Given the description of an element on the screen output the (x, y) to click on. 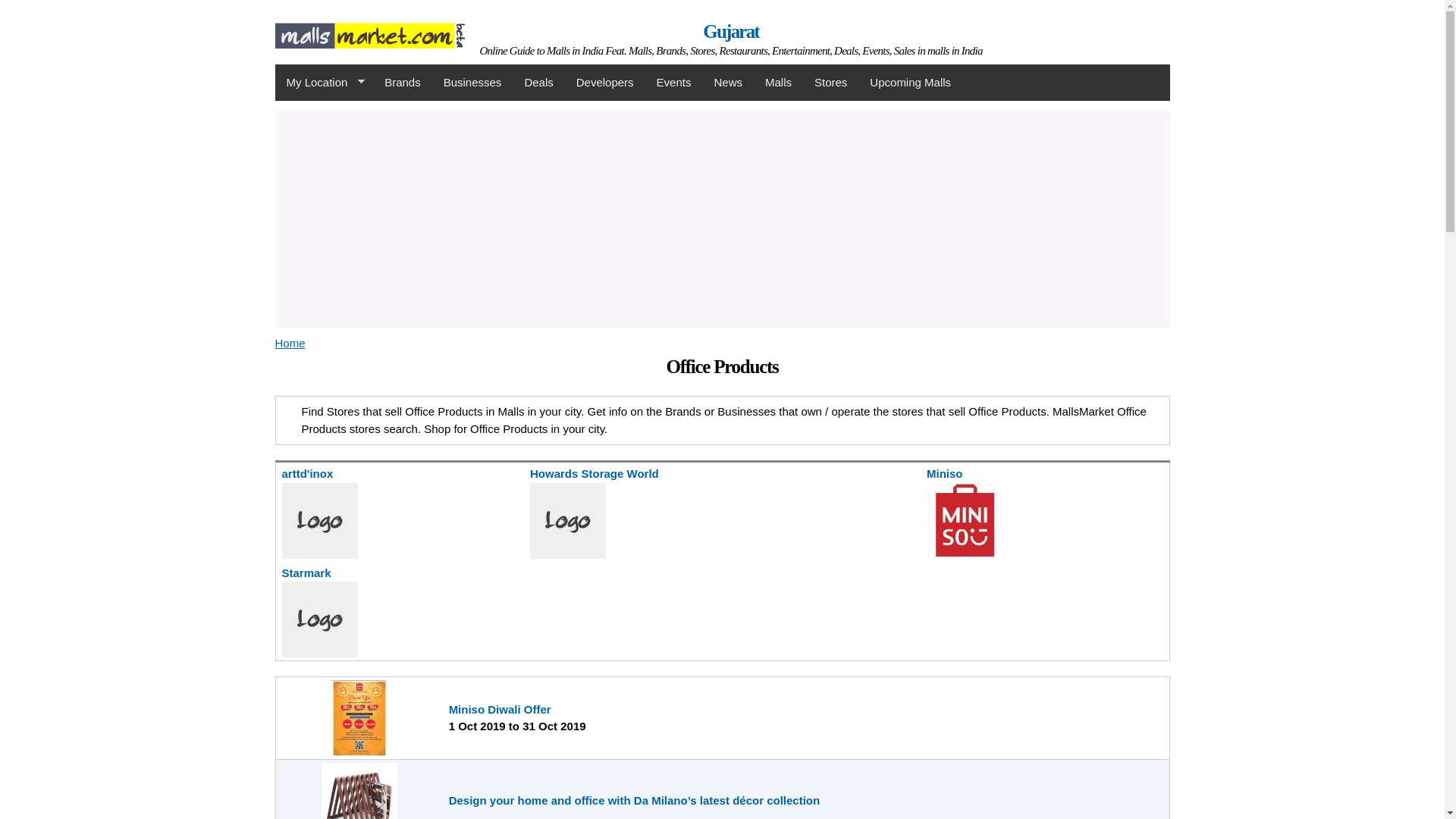
News (727, 82)
Gujarat (730, 31)
Starmark (306, 571)
Developers (604, 82)
Home (289, 342)
The best deals from stores and malls in your city. (538, 82)
Miniso (944, 472)
Howards Storage World (594, 472)
Stores (831, 82)
Upcoming Malls (910, 82)
Events (674, 82)
Brands (402, 82)
Deals (538, 82)
Malls (778, 82)
Skip to main content (688, 1)
